Given the description of an element on the screen output the (x, y) to click on. 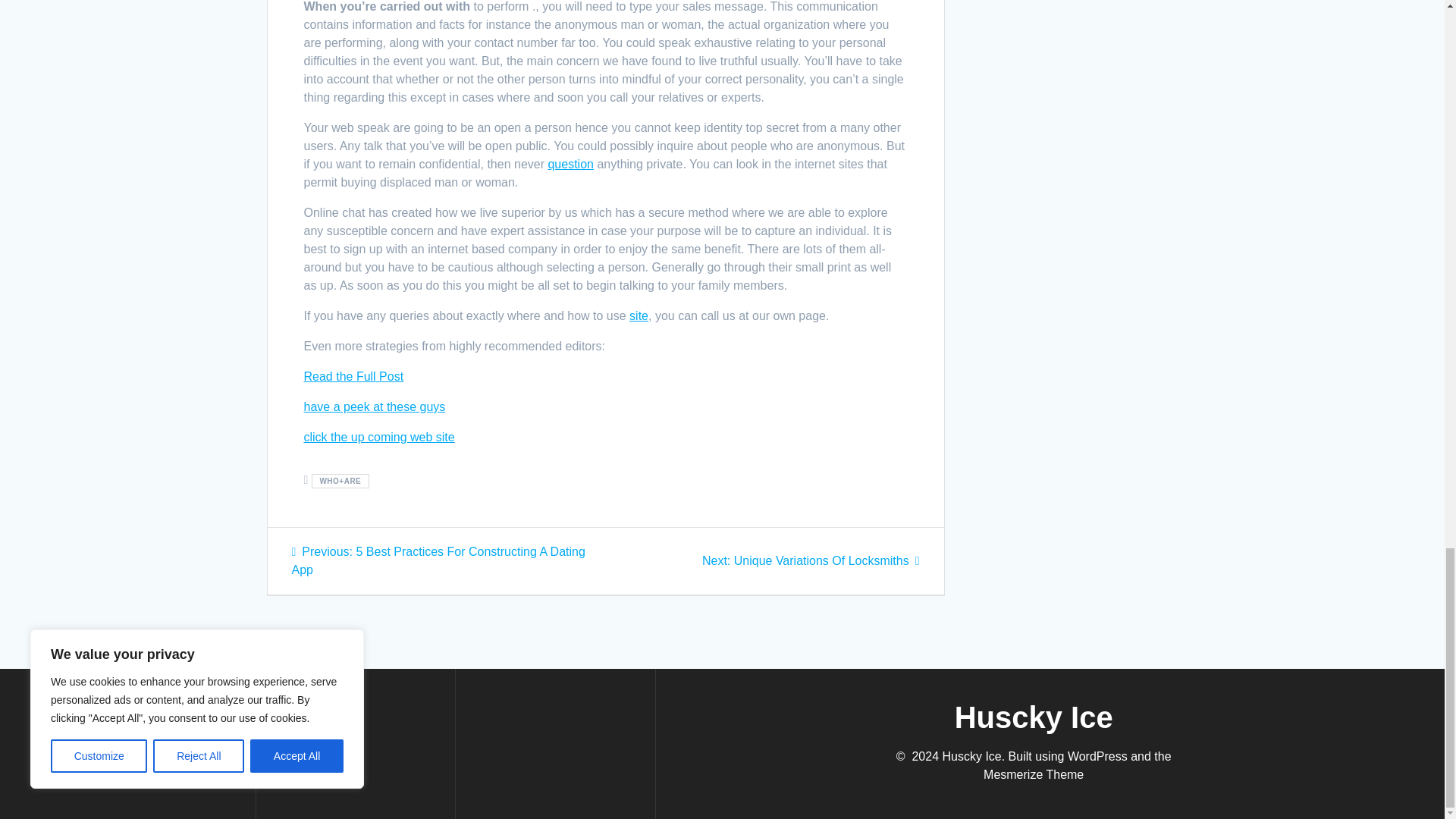
click the up coming web site (378, 436)
have a peek at these guys (810, 560)
Read the Full Post (373, 406)
question (352, 376)
site (570, 164)
